Given the description of an element on the screen output the (x, y) to click on. 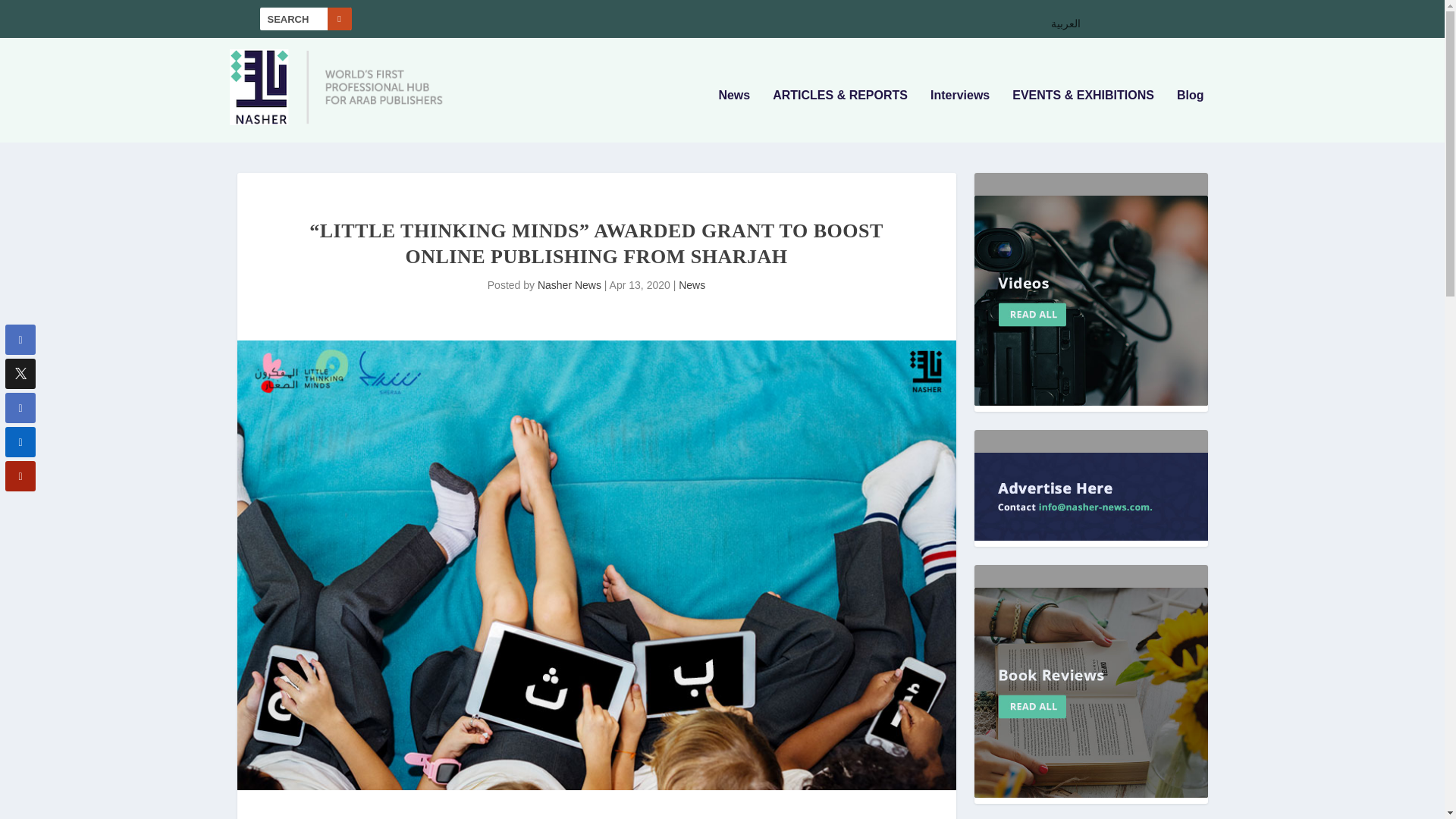
Search for: (304, 18)
Nasher News (569, 285)
World's first professional hub for Arab Publishers (336, 132)
Interviews (960, 115)
Posts by Nasher News (569, 285)
News (691, 285)
